Given the description of an element on the screen output the (x, y) to click on. 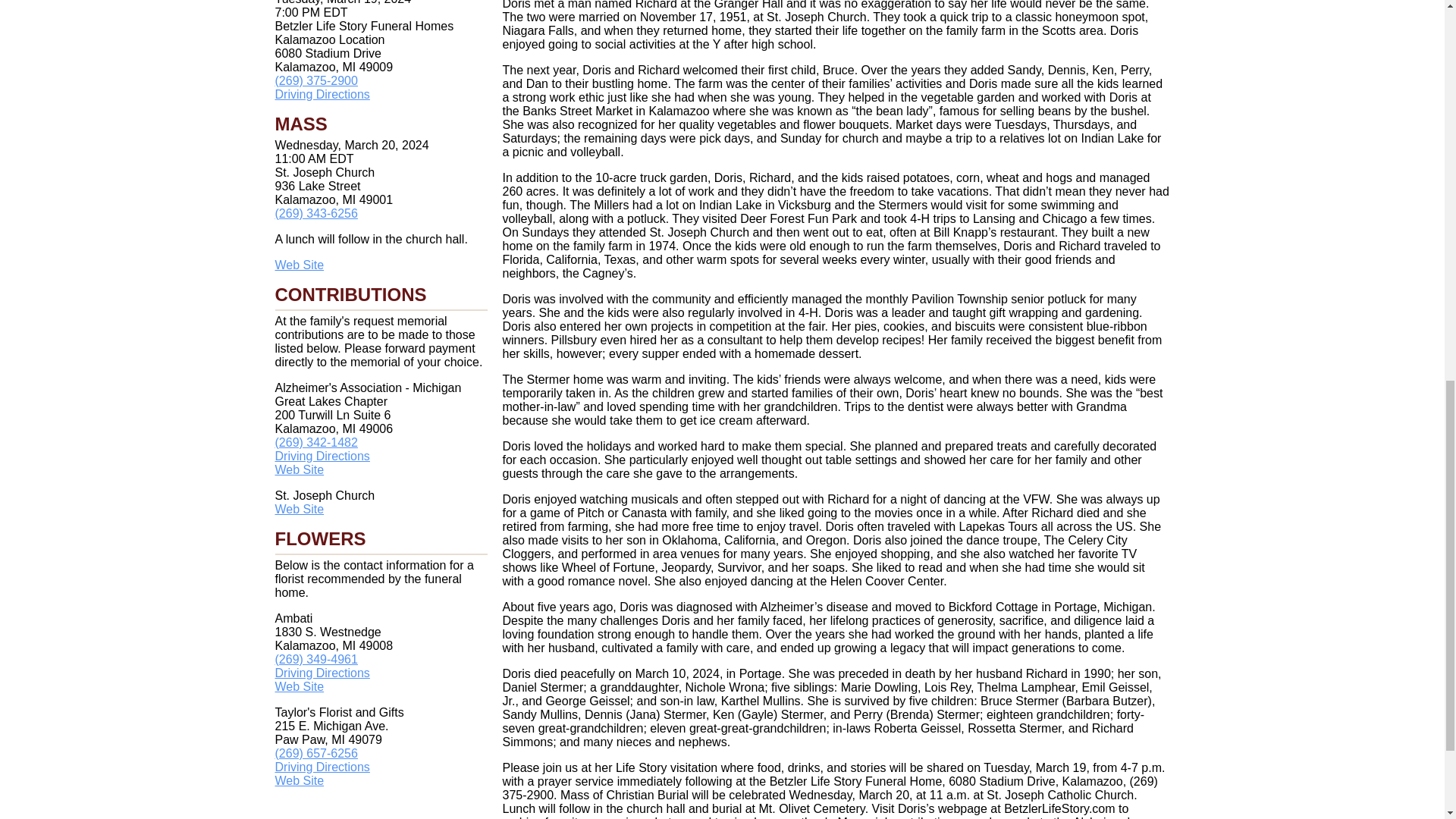
Web Site (299, 686)
Driving Directions (322, 93)
Web Site (299, 508)
Driving Directions (322, 672)
Web Site (299, 780)
Driving Directions (322, 455)
Web Site (299, 264)
Driving Directions (322, 766)
Web Site (299, 469)
